Given the description of an element on the screen output the (x, y) to click on. 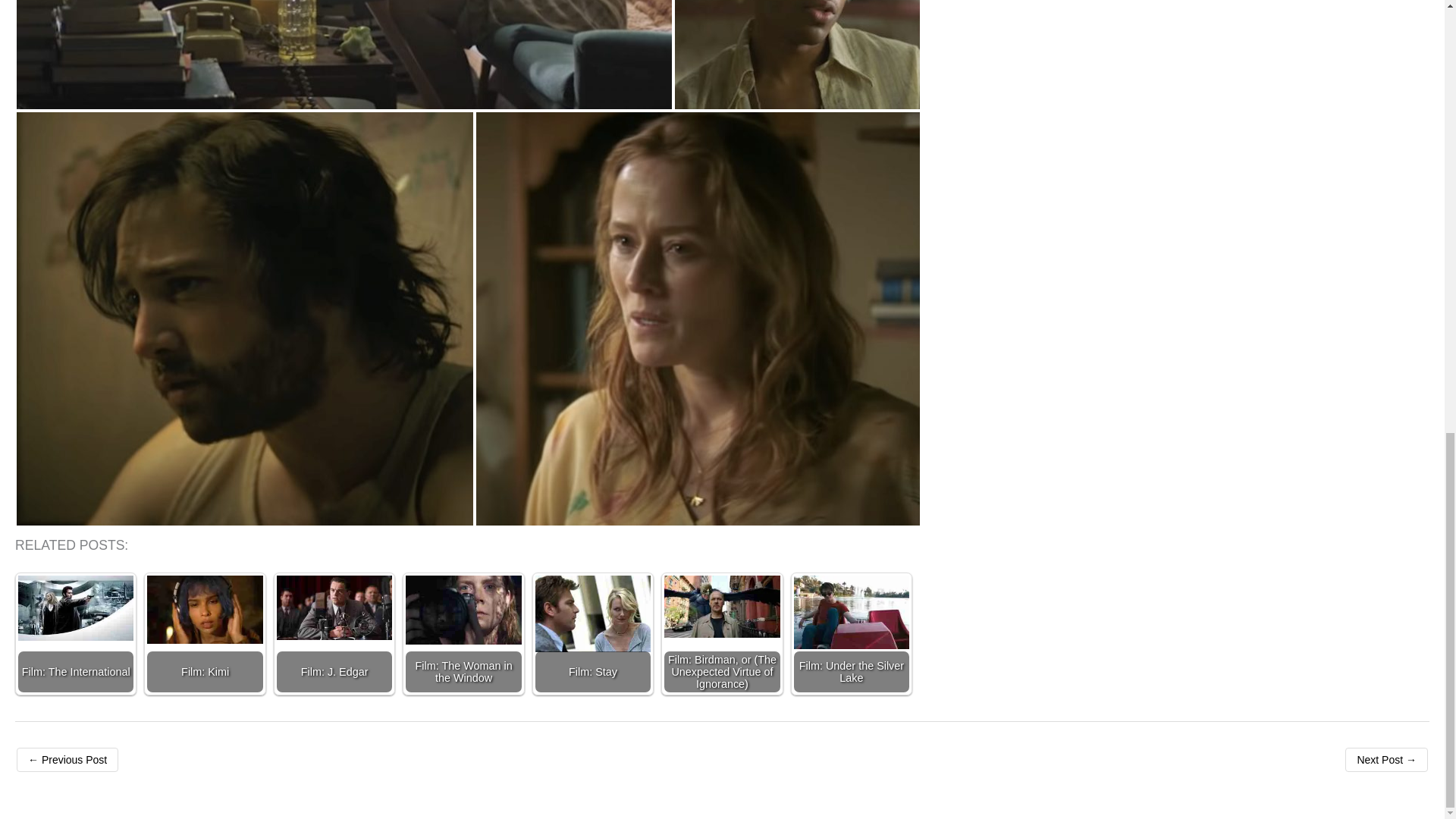
Film: Everything Everywhere All at Once (66, 759)
Film: Stay (592, 613)
Film: Kimi (204, 609)
Film: J. Edgar (333, 607)
Film: The Woman in the Window (463, 609)
Film: Under the Silver Lake (850, 612)
Film:  The International (75, 607)
